Given the description of an element on the screen output the (x, y) to click on. 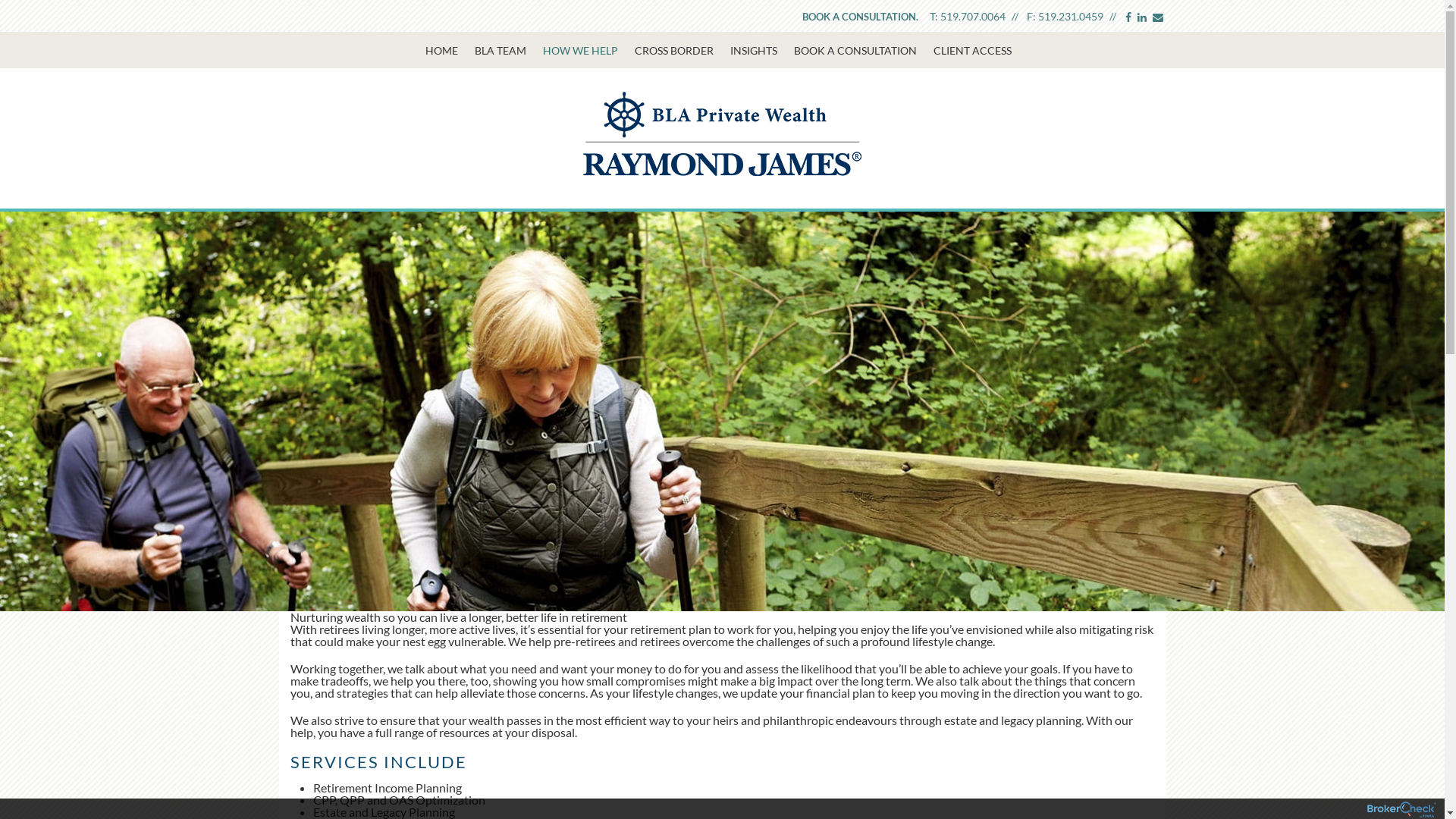
BOOK A CONSULTATION Element type: text (858, 50)
HOW WE HELP Element type: text (584, 50)
BOOK A CONSULTATION. Element type: text (859, 16)
envelope Element type: text (1157, 16)
HOME Element type: text (444, 50)
facebook Element type: text (1128, 16)
INSIGHTS Element type: text (756, 50)
BLA TEAM Element type: text (504, 50)
519.231.0459 Element type: text (1069, 15)
CLIENT ACCESS Element type: text (975, 50)
CROSS BORDER Element type: text (677, 50)
linkedin Element type: text (1141, 16)
519.707.0064 Element type: text (972, 15)
